Given the description of an element on the screen output the (x, y) to click on. 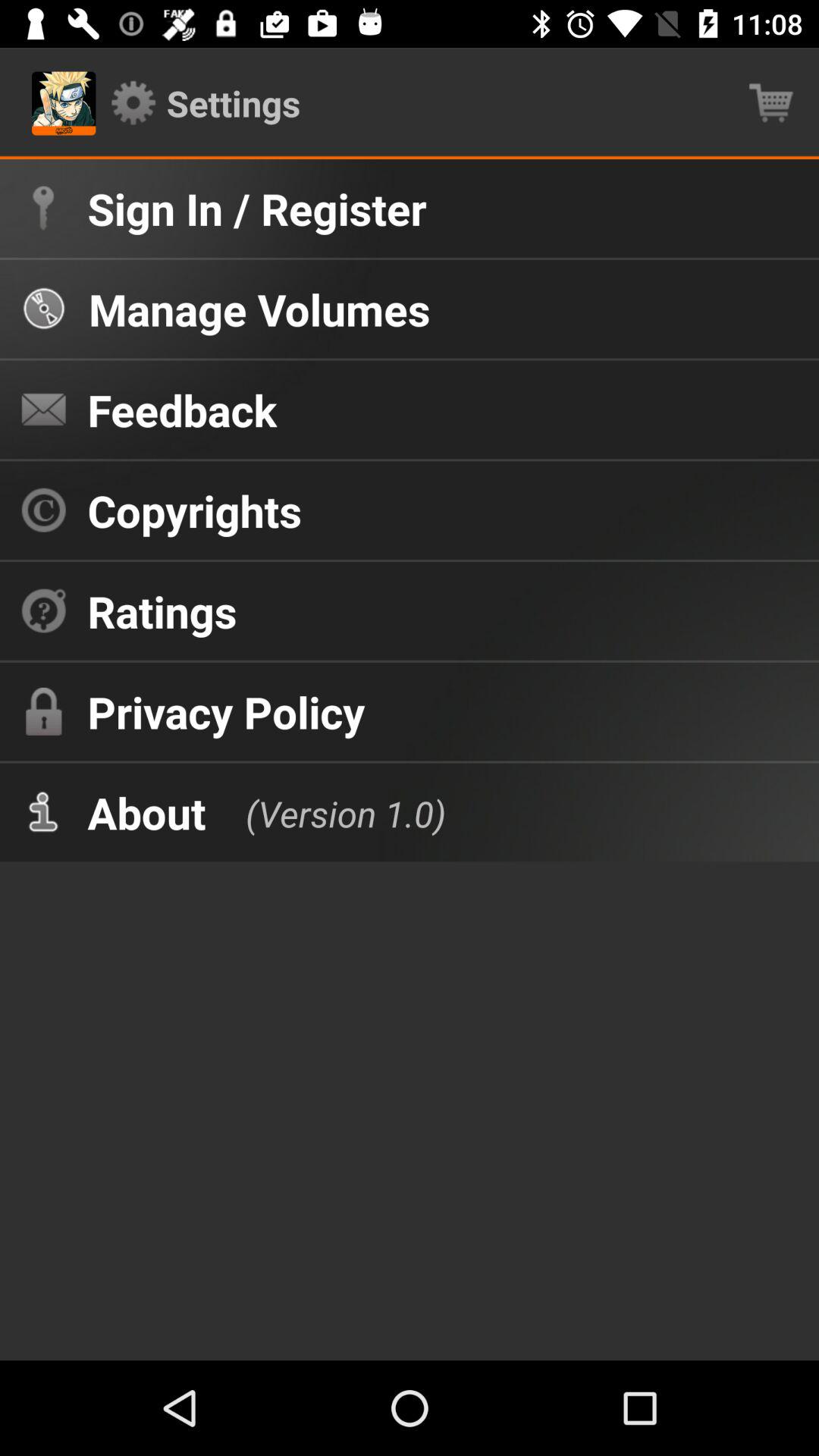
jump until the privacy policy item (226, 711)
